Given the description of an element on the screen output the (x, y) to click on. 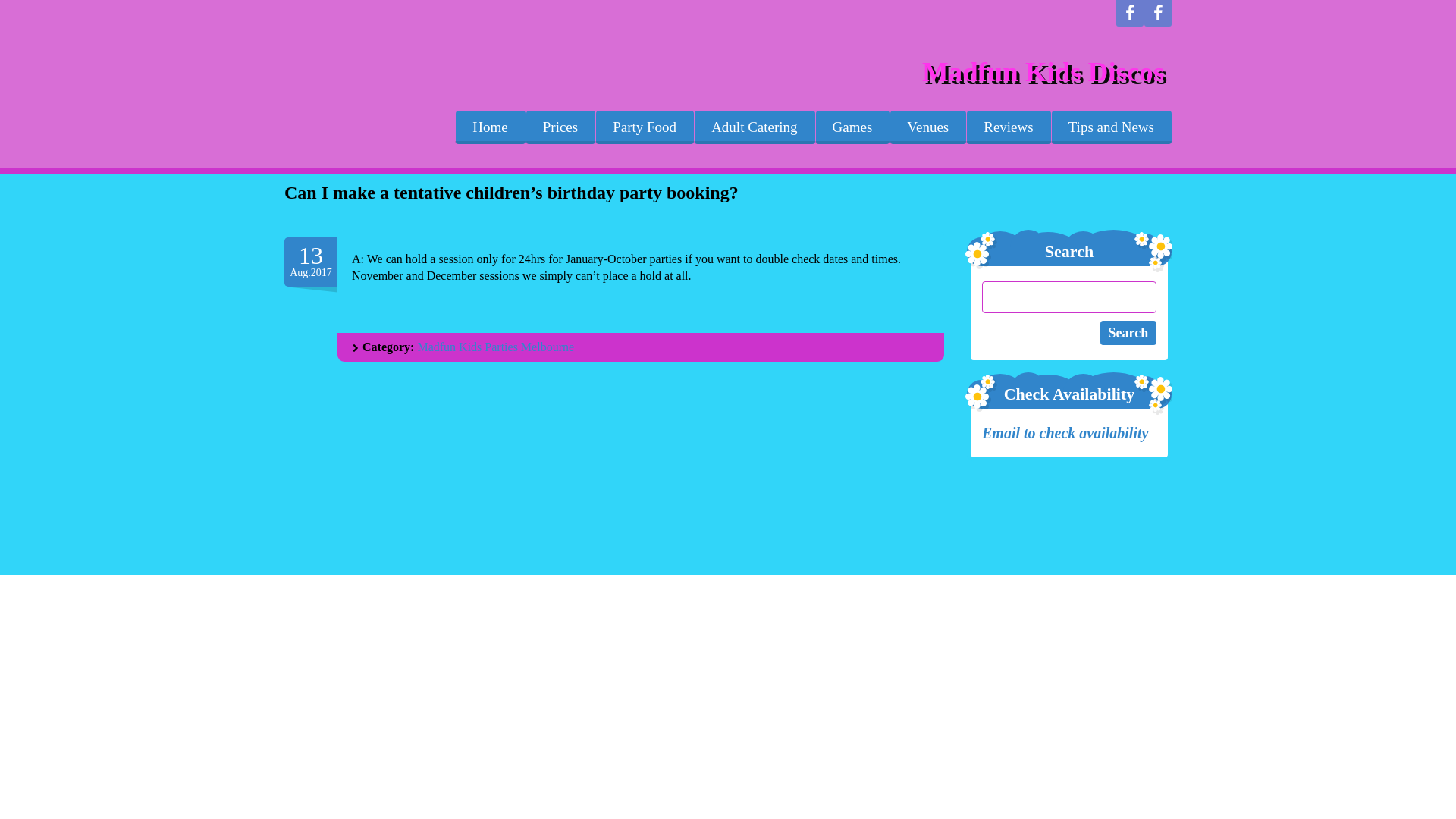
Games Element type: text (852, 127)
Party Food Element type: text (644, 127)
Venues Element type: text (927, 127)
Adult Catering Element type: text (753, 127)
Madfun FaceBook Moorabbin Element type: hover (1157, 13)
Madfun Kids Discos Element type: text (1043, 71)
Reviews Element type: text (1008, 127)
Madfun Kids Parties Melbourne Element type: text (495, 346)
Madfun Facebook Knox Element type: hover (1129, 13)
Prices Element type: text (560, 127)
Tips and News Element type: text (1111, 127)
Search Element type: text (1128, 332)
Email to check availability  Element type: text (1066, 432)
Home Element type: text (489, 127)
